Given the description of an element on the screen output the (x, y) to click on. 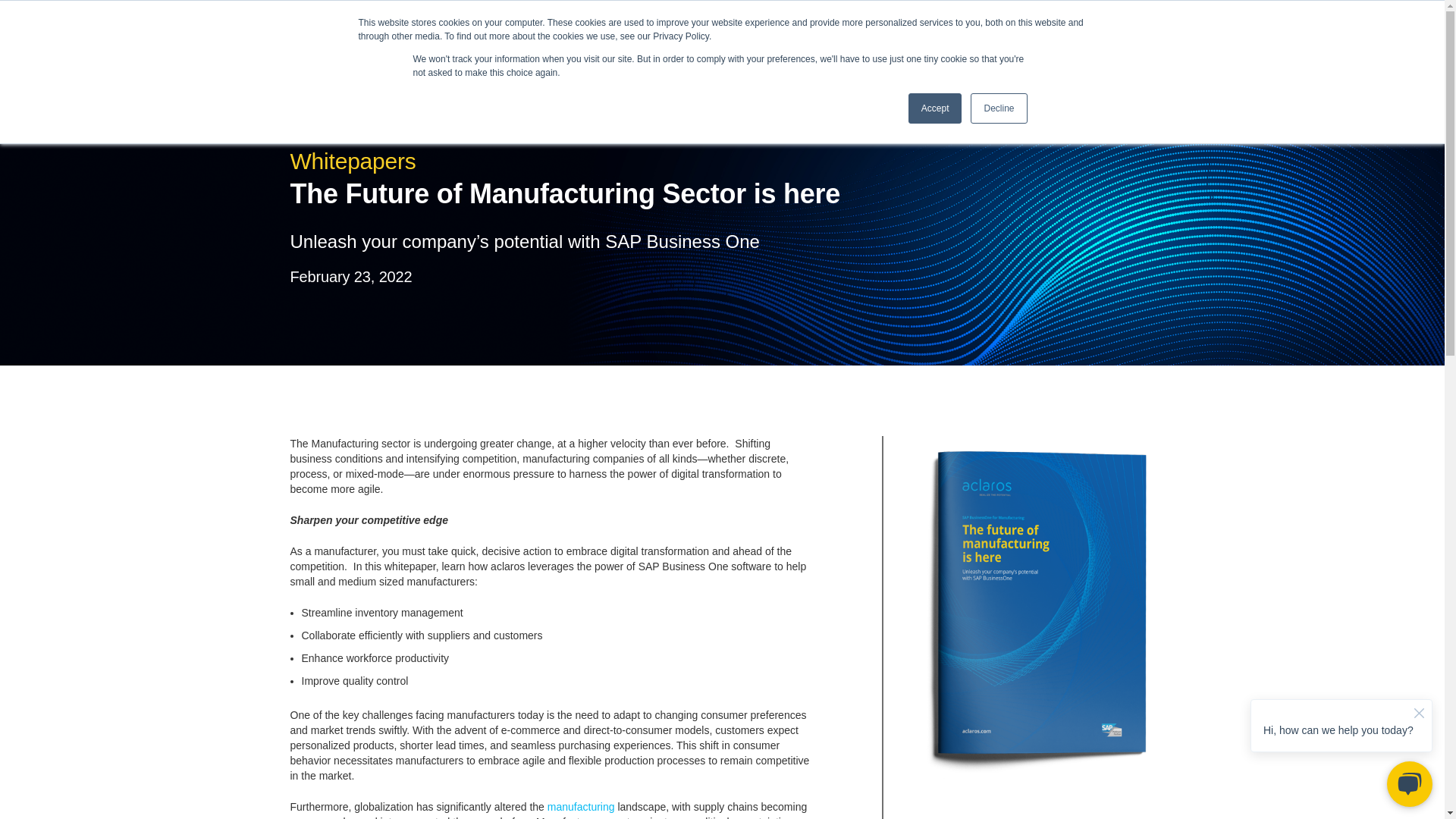
Solutions (536, 36)
Accept (935, 108)
Decline (998, 108)
Industries (619, 36)
Help widget launcher (1322, 781)
About (774, 36)
Resources (703, 36)
